Given the description of an element on the screen output the (x, y) to click on. 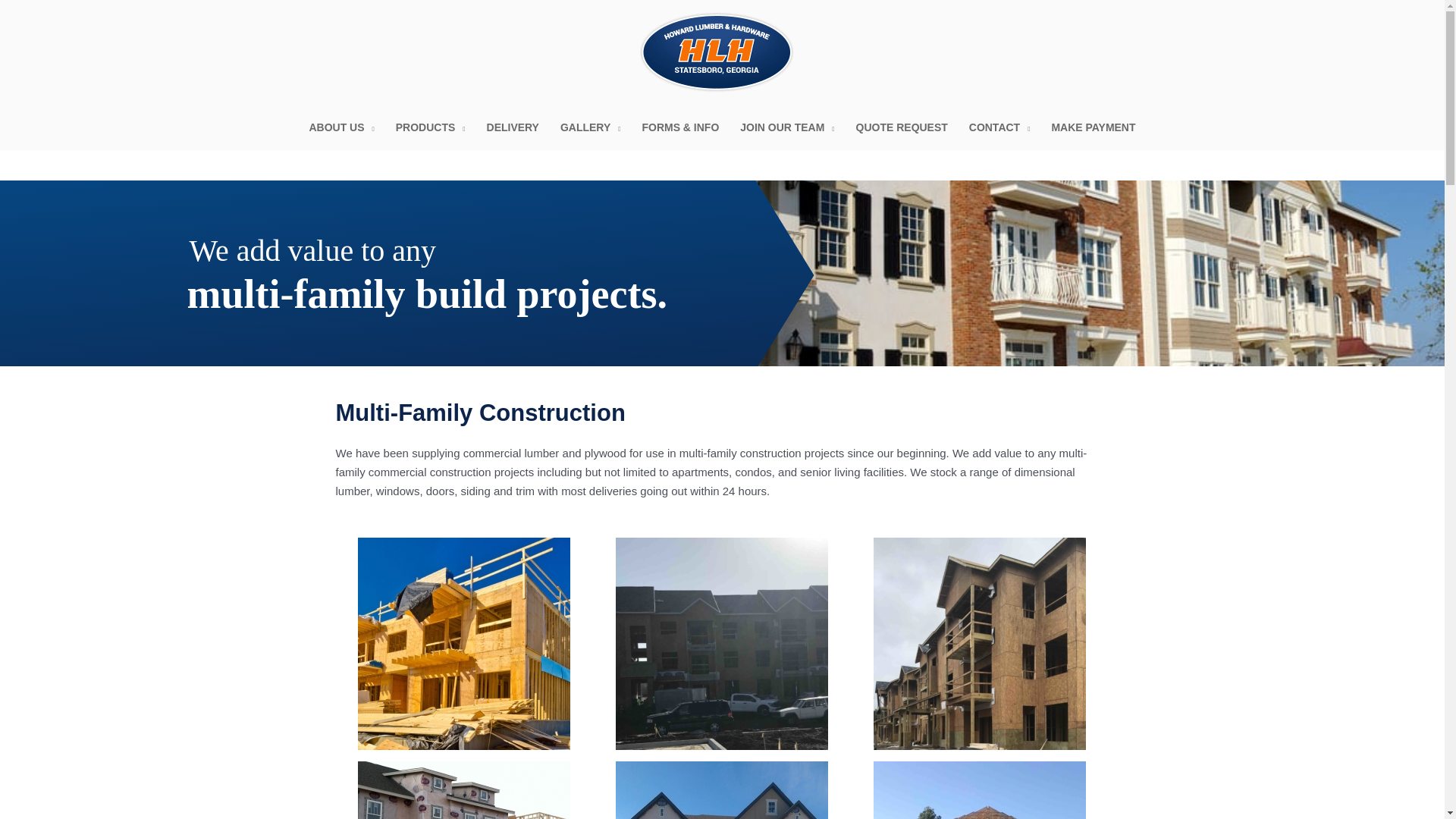
IMG 0332 (979, 643)
IMG 1735 (979, 790)
ABOUT US (341, 126)
HAMPTONS-STATESBORO (721, 790)
CONTACT (999, 126)
IMG 0332 (979, 643)
PRODUCTS (430, 126)
368 (464, 790)
IMG 1735 (979, 790)
IMG 1736 (721, 643)
IMG 1736 (721, 643)
DELIVERY (513, 126)
MAKE PAYMENT (1093, 126)
GALLERY (590, 126)
QUOTE REQUEST (901, 126)
